Given the description of an element on the screen output the (x, y) to click on. 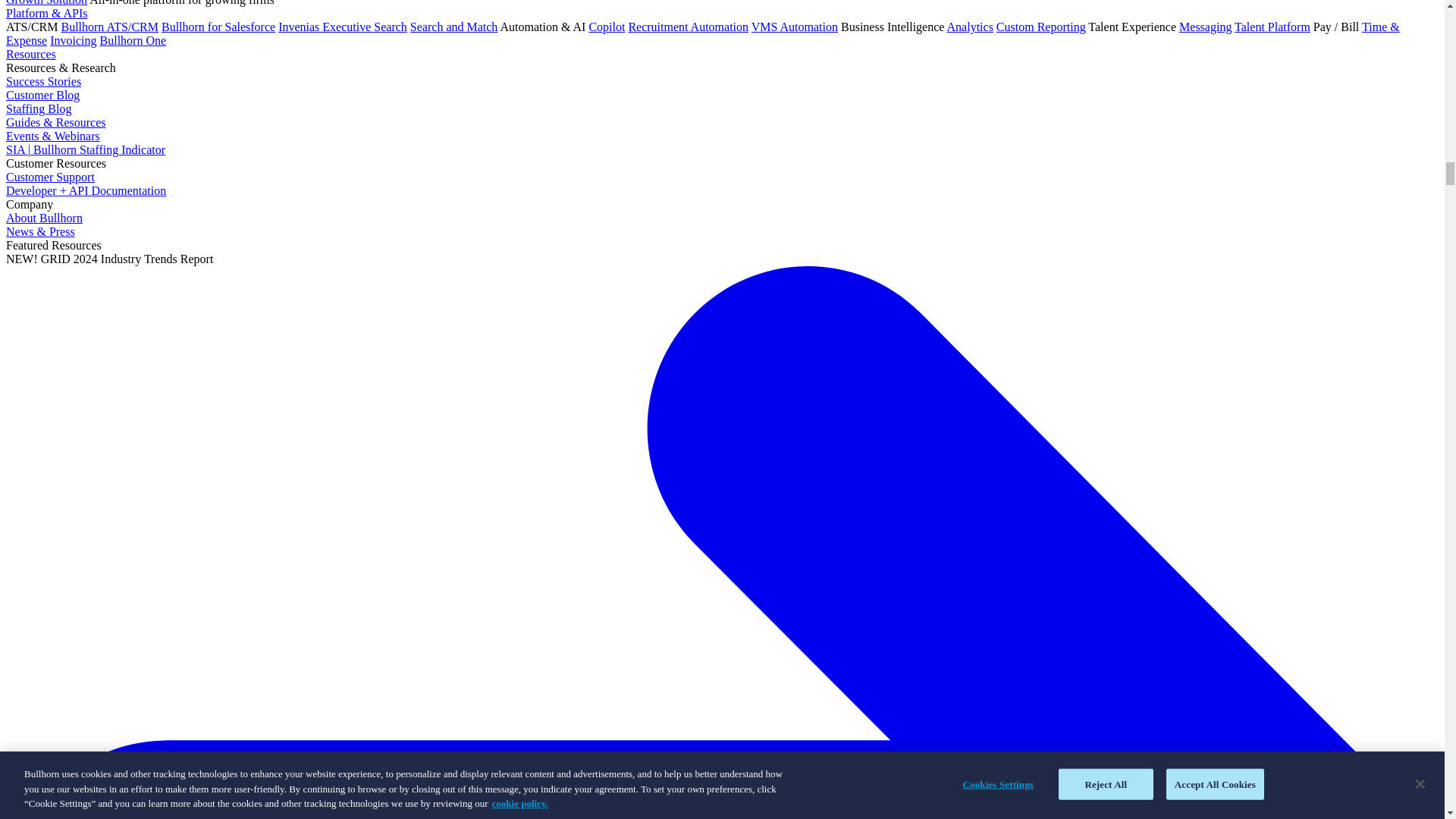
Analytics (969, 26)
Custom Reporting (1040, 26)
Bullhorn for Salesforce (218, 26)
Invenias Executive Search (342, 26)
Search and Match (453, 26)
Growth Solution (46, 2)
Recruitment Automation (687, 26)
Copilot (606, 26)
Messaging (1205, 26)
VMS Automation (794, 26)
